Given the description of an element on the screen output the (x, y) to click on. 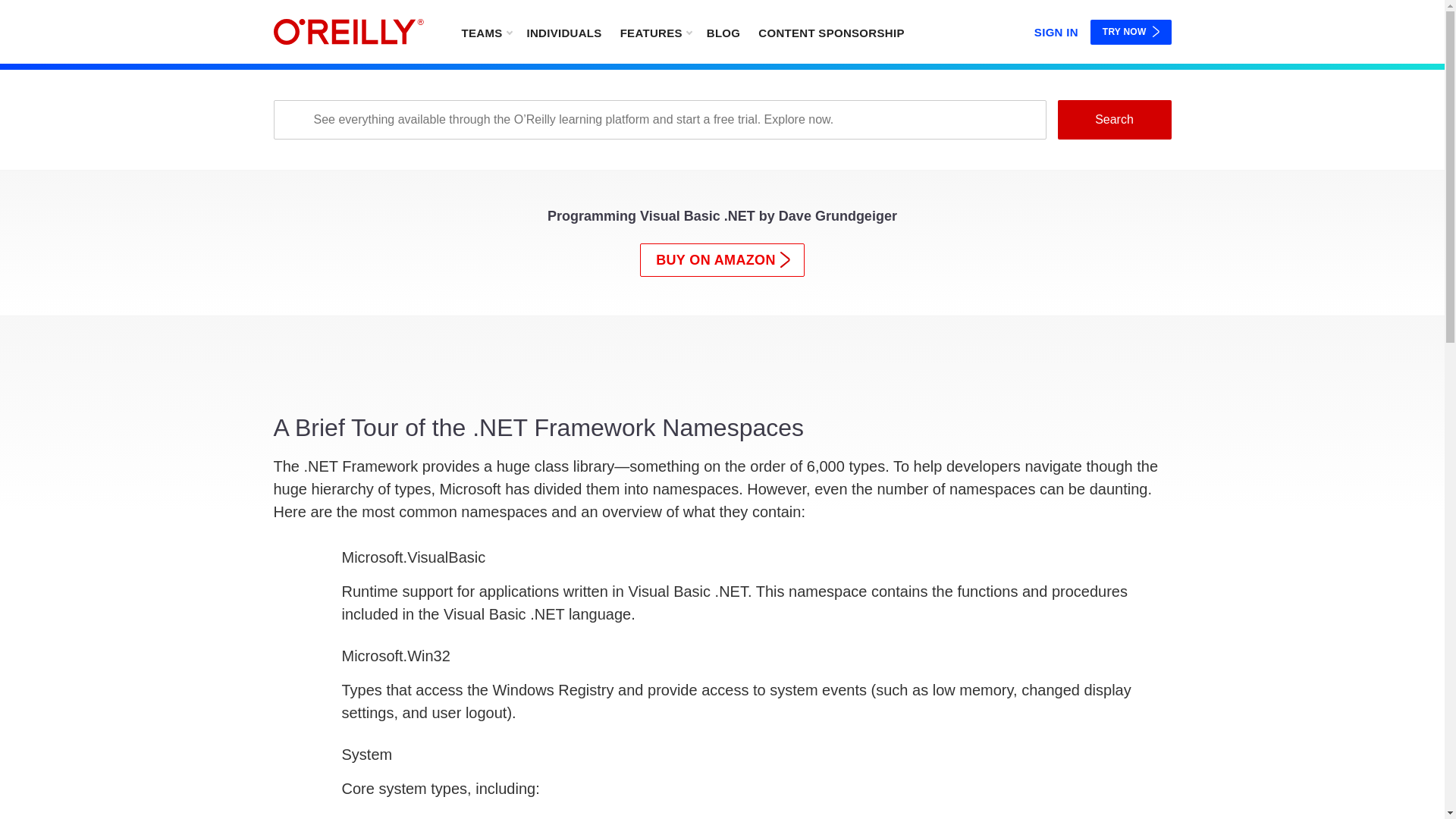
CONTENT SPONSORSHIP (831, 31)
SIGN IN (1055, 29)
TEAMS (486, 31)
Search (1113, 119)
BUY ON AMAZON (722, 259)
BLOG (723, 31)
Programming Visual Basic .NET by Dave Grundgeiger (721, 219)
INDIVIDUALS (563, 31)
TRY NOW (1131, 32)
Search (1113, 119)
Search (1113, 119)
FEATURES (655, 31)
home page (348, 31)
